Given the description of an element on the screen output the (x, y) to click on. 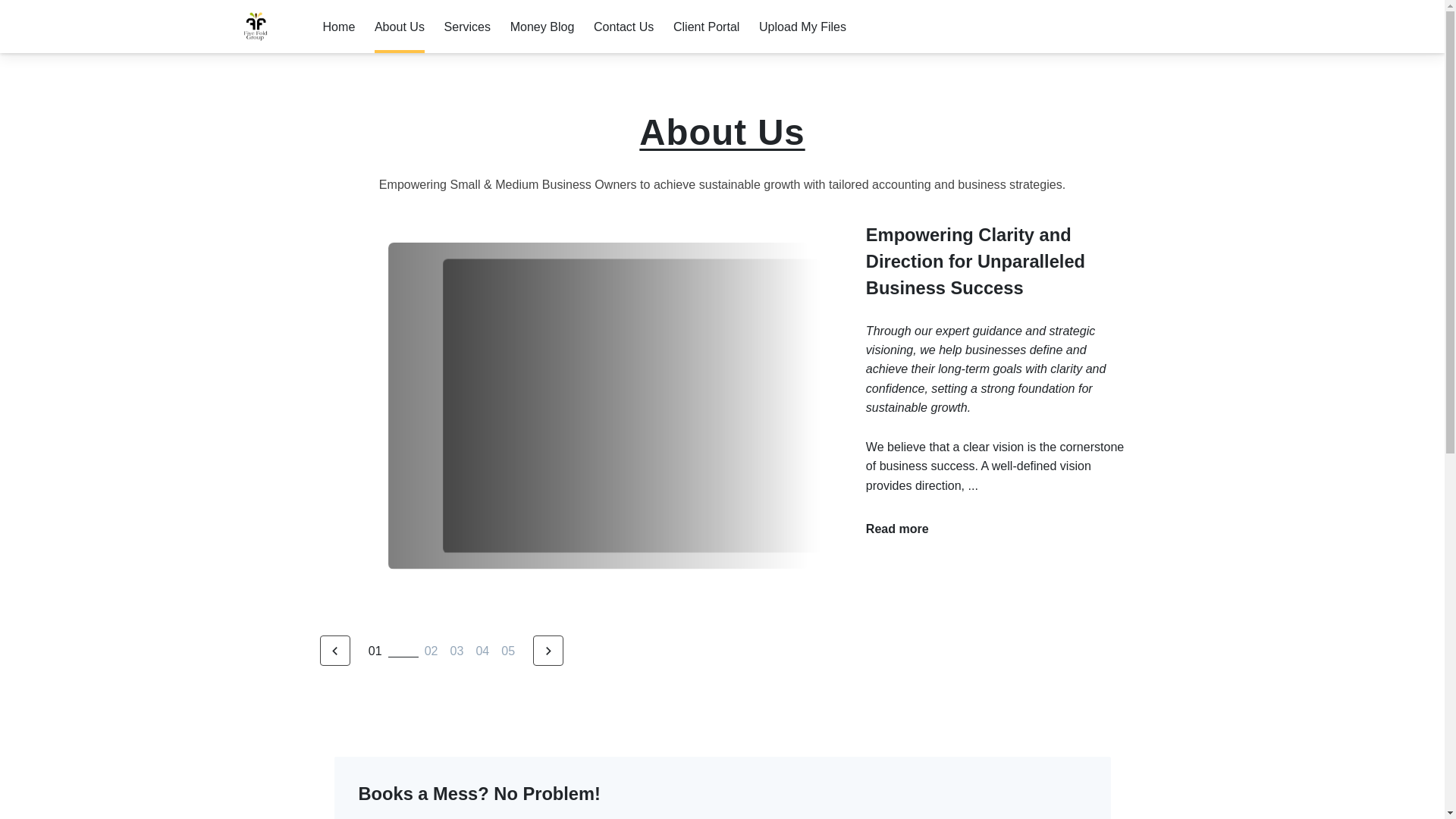
Upload My Files (801, 26)
Money Blog (543, 26)
Client Portal (705, 26)
Read more (897, 528)
About Us (399, 26)
Contact Us (623, 26)
